Given the description of an element on the screen output the (x, y) to click on. 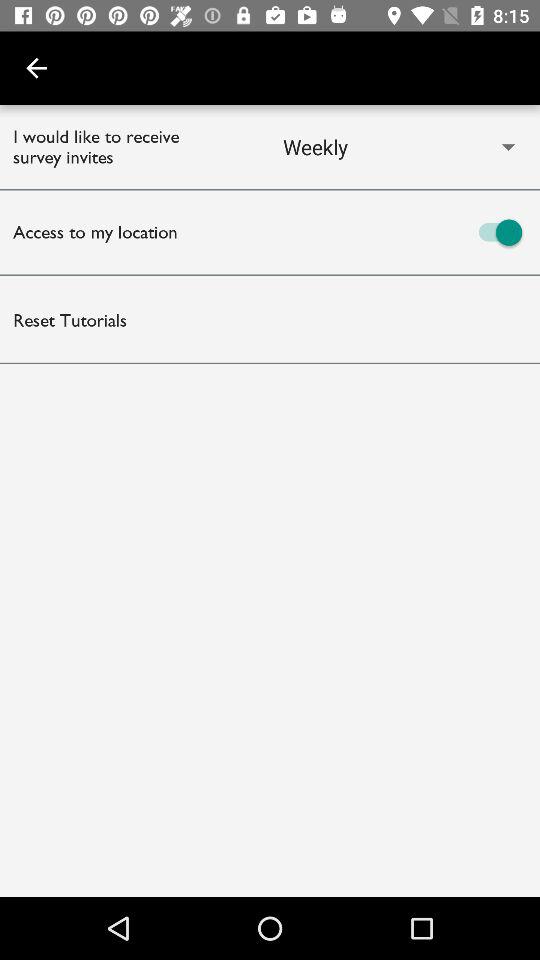
toggle location access option (405, 232)
